Given the description of an element on the screen output the (x, y) to click on. 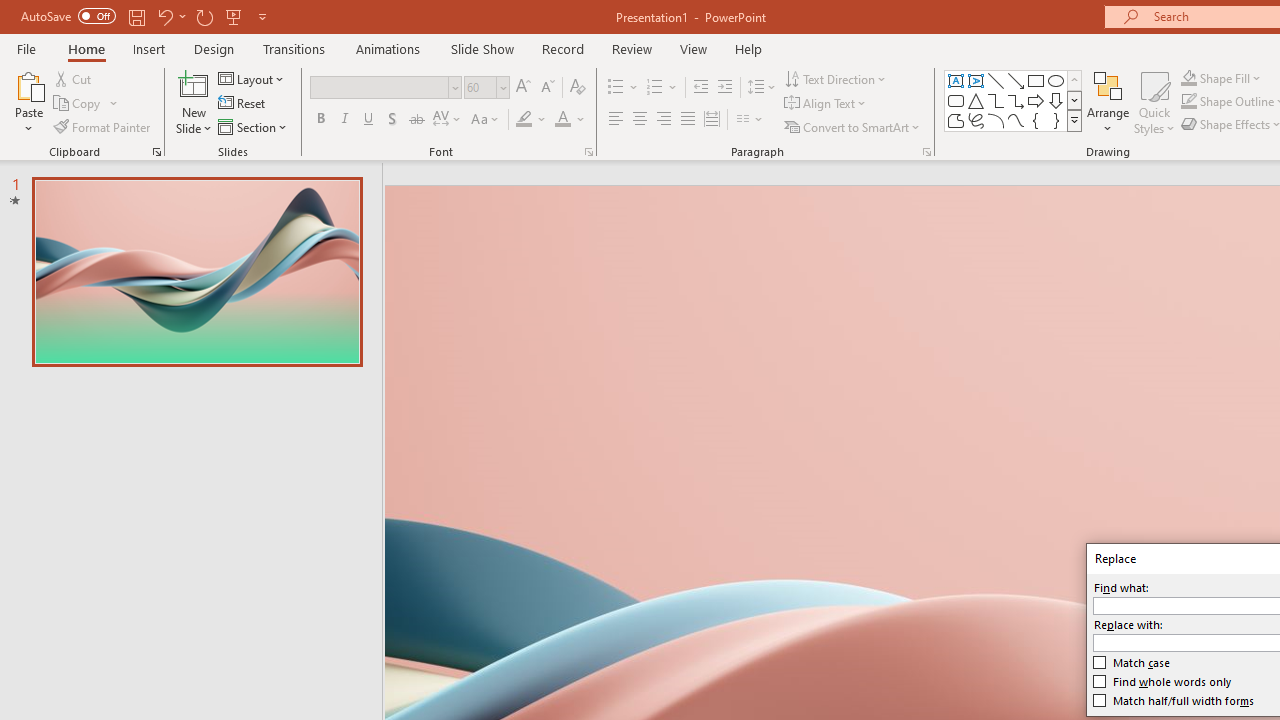
Match half/full width forms (1174, 700)
